Given the description of an element on the screen output the (x, y) to click on. 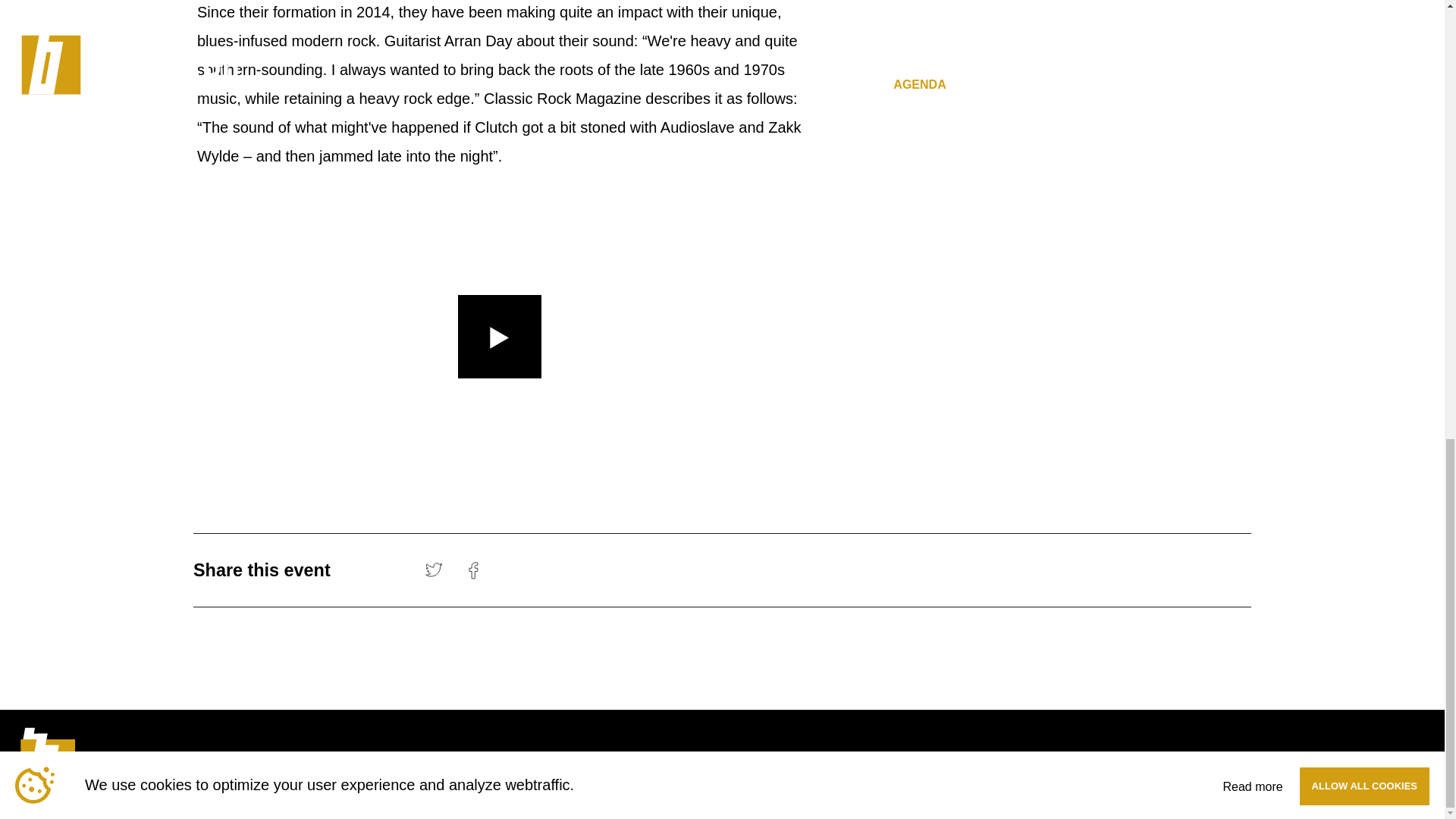
HOUSE RULES (1038, 761)
 Privacy statement (1381, 761)
ANBI (1126, 761)
ANBI (1126, 761)
House rules (1038, 761)
Terms of conditions (1235, 761)
TERMS OF CONDITIONS (1235, 761)
PRIVACY STATEMENT (1381, 761)
